Given the description of an element on the screen output the (x, y) to click on. 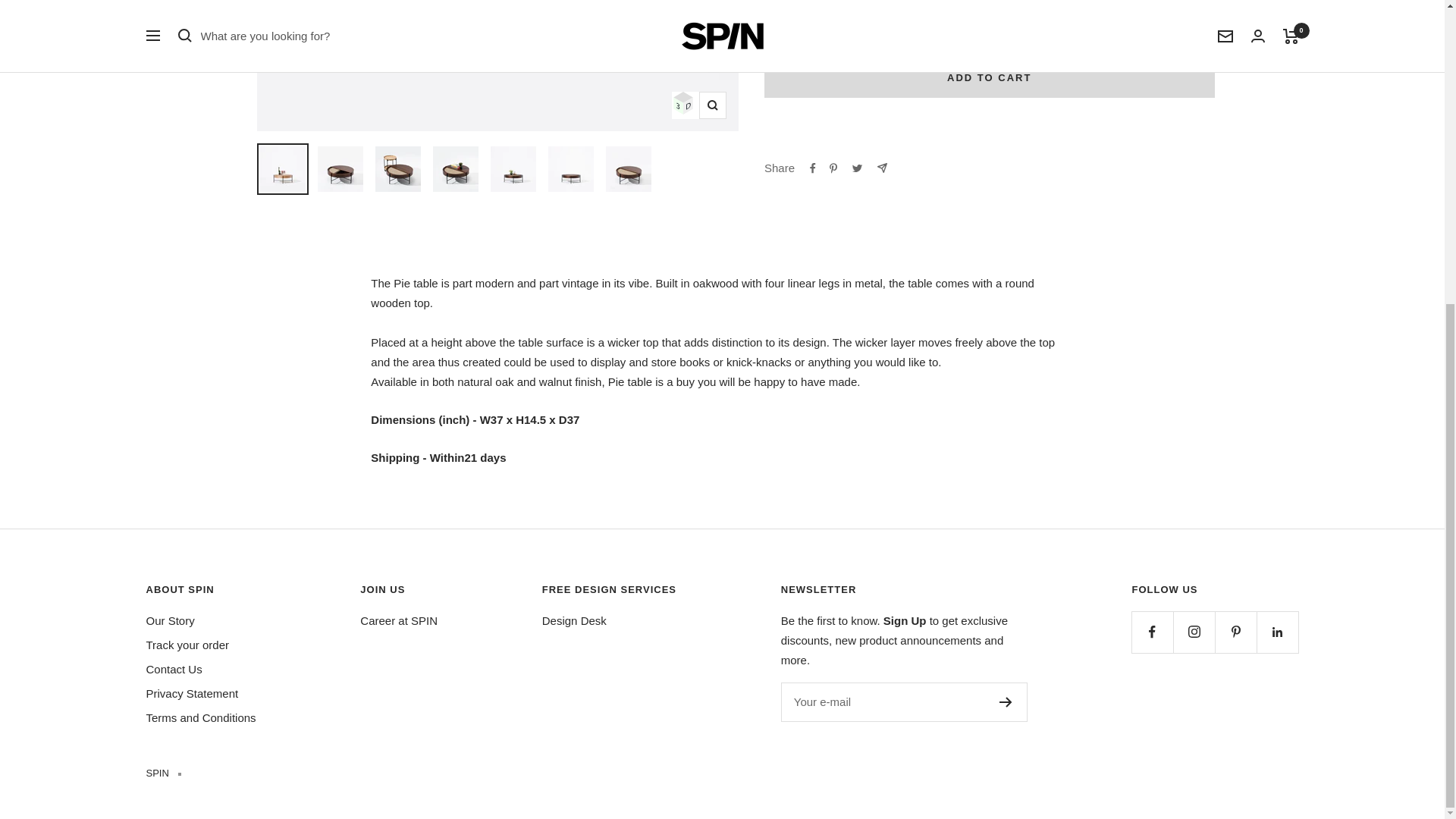
Register (1004, 701)
Zoom (712, 104)
